Given the description of an element on the screen output the (x, y) to click on. 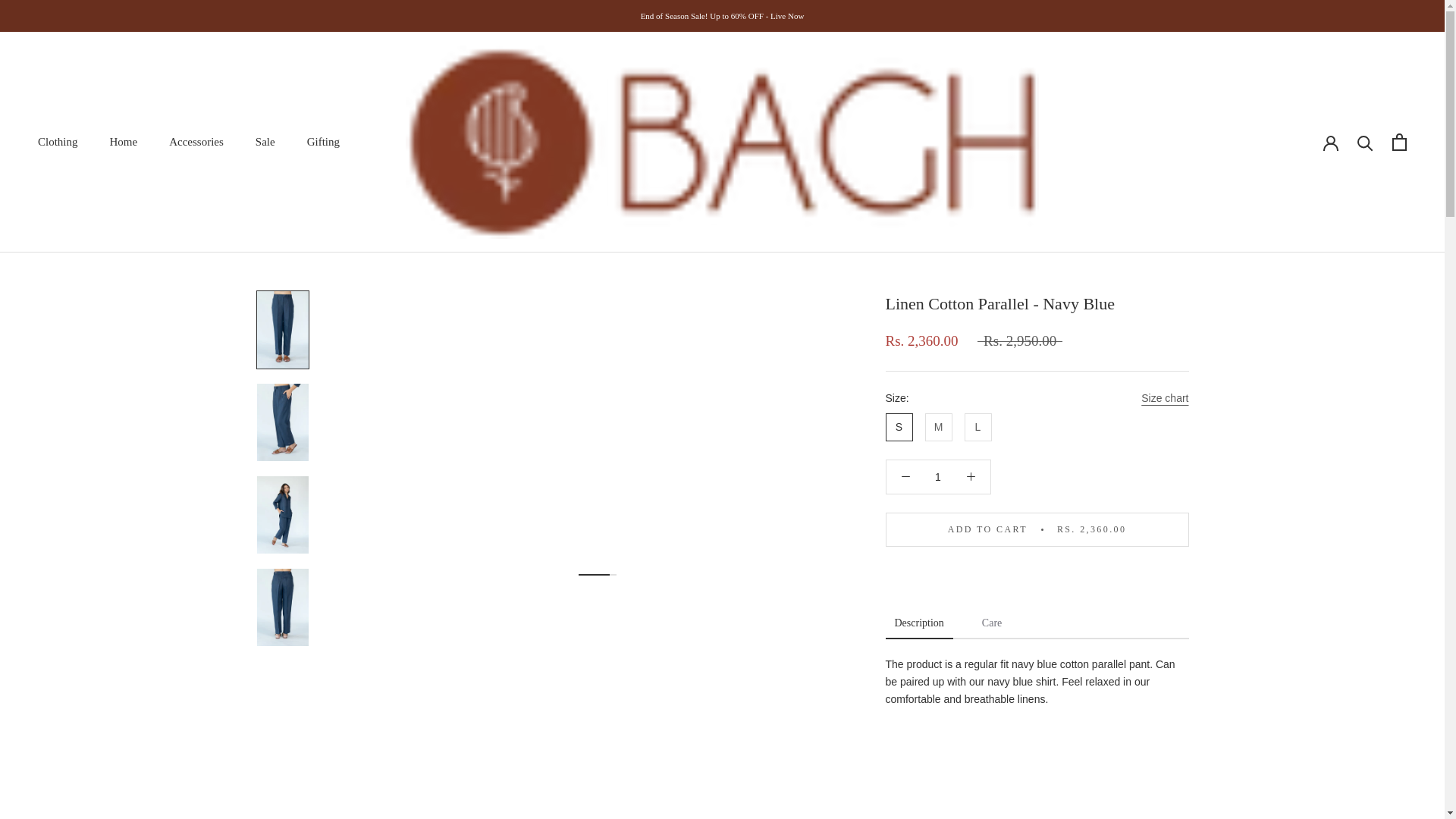
1 (938, 476)
